Given the description of an element on the screen output the (x, y) to click on. 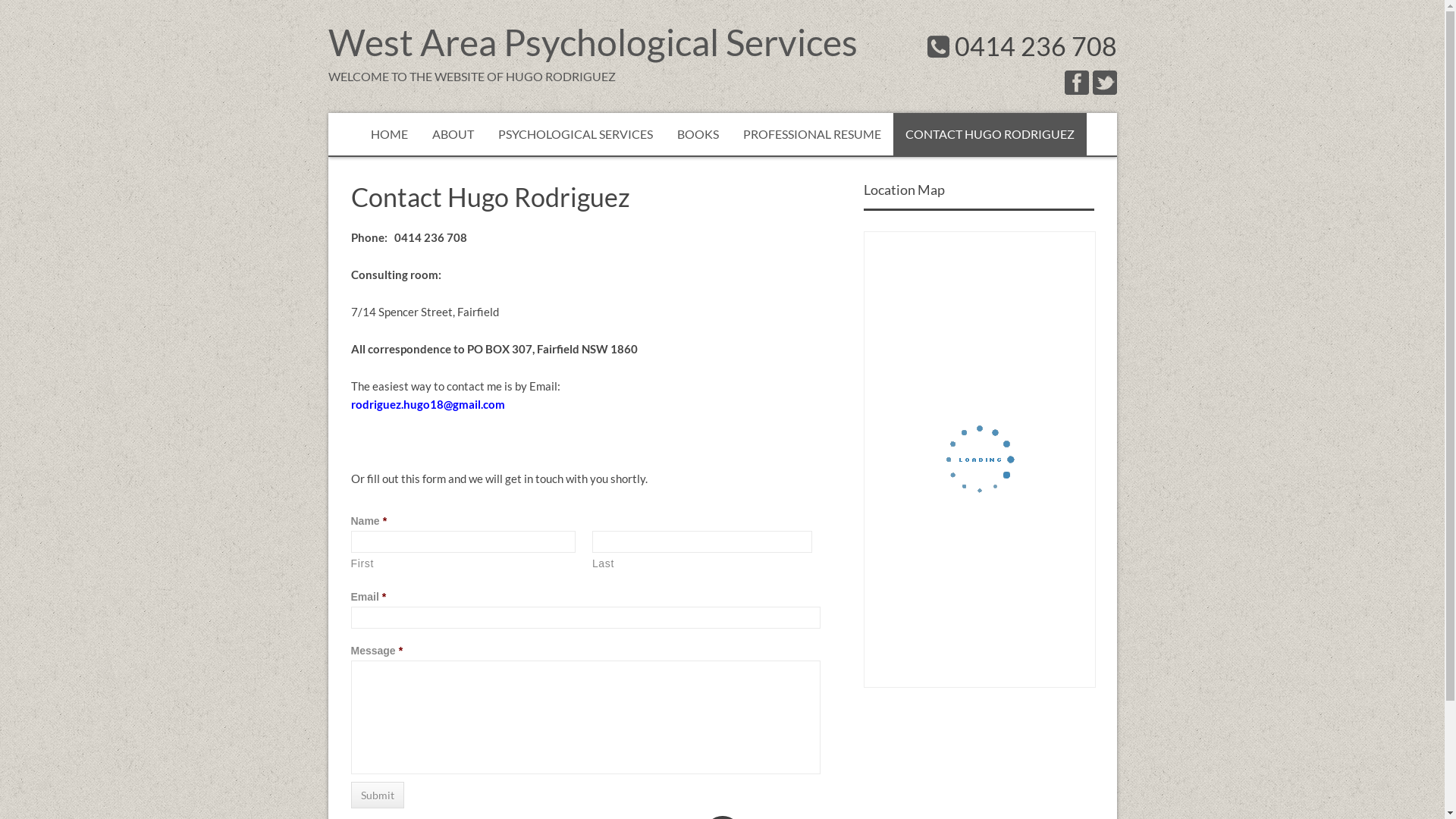
ABOUT Element type: text (453, 133)
Twitter Element type: hover (1104, 81)
PSYCHOLOGICAL SERVICES Element type: text (574, 133)
BOOKS Element type: text (697, 133)
PROFESSIONAL RESUME Element type: text (812, 133)
Facebook Element type: hover (1076, 81)
Submit Element type: text (376, 795)
West Area Psychological Services Element type: text (591, 41)
HOME Element type: text (388, 133)
CONTACT HUGO RODRIGUEZ Element type: text (989, 133)
